Given the description of an element on the screen output the (x, y) to click on. 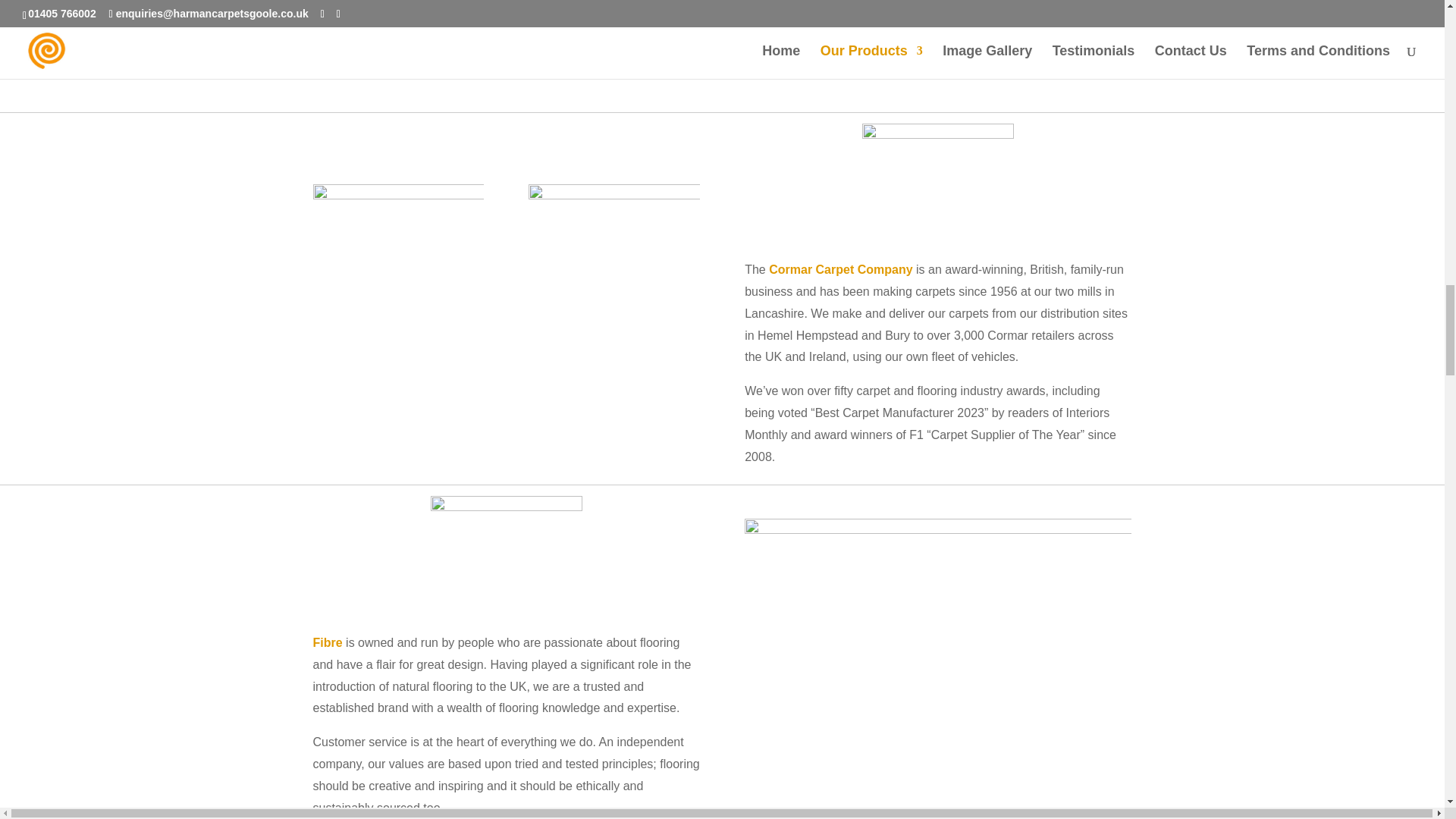
Abingdon royal sovereign (891, 36)
Fibre seagrass (937, 668)
Cormar Logo 200x150 (937, 179)
Fibre Logo 200x150 (506, 552)
Cormar Carpet Company (840, 269)
Fibre (327, 642)
